Given the description of an element on the screen output the (x, y) to click on. 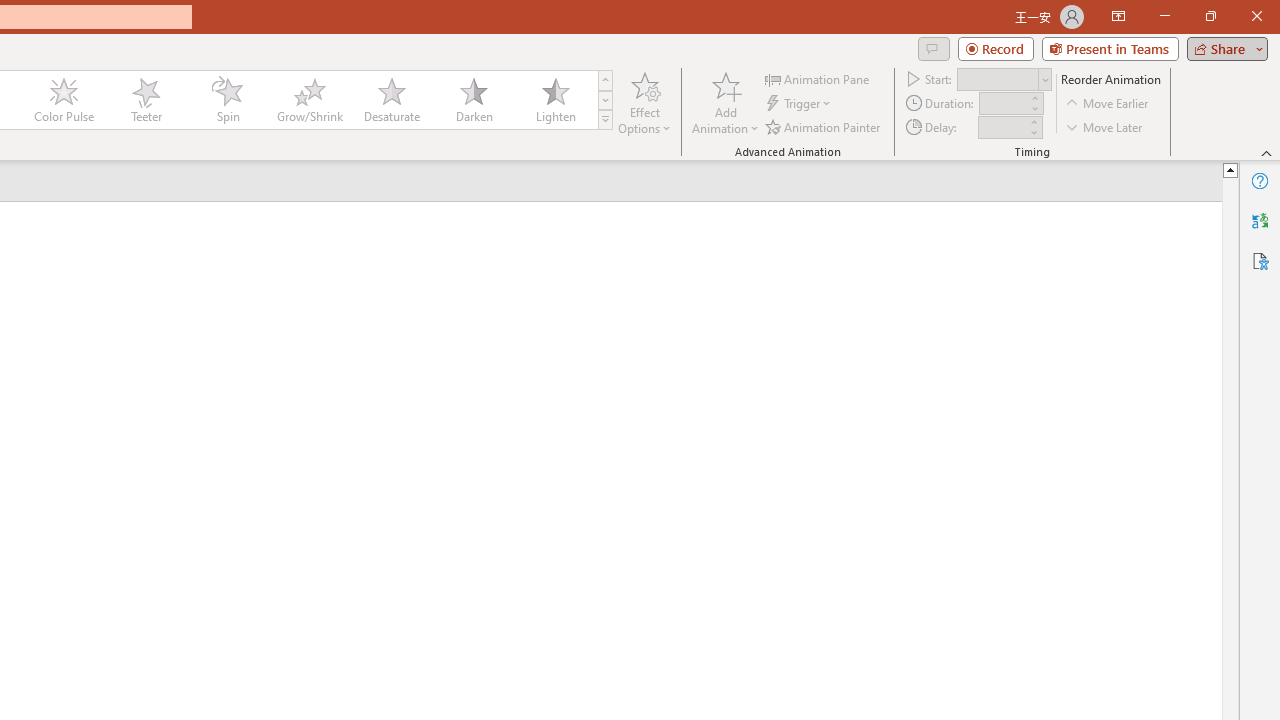
Move Later (1105, 126)
Move Earlier (1107, 103)
Animation Styles (605, 120)
Effect Options (644, 102)
Trigger (799, 103)
